Given the description of an element on the screen output the (x, y) to click on. 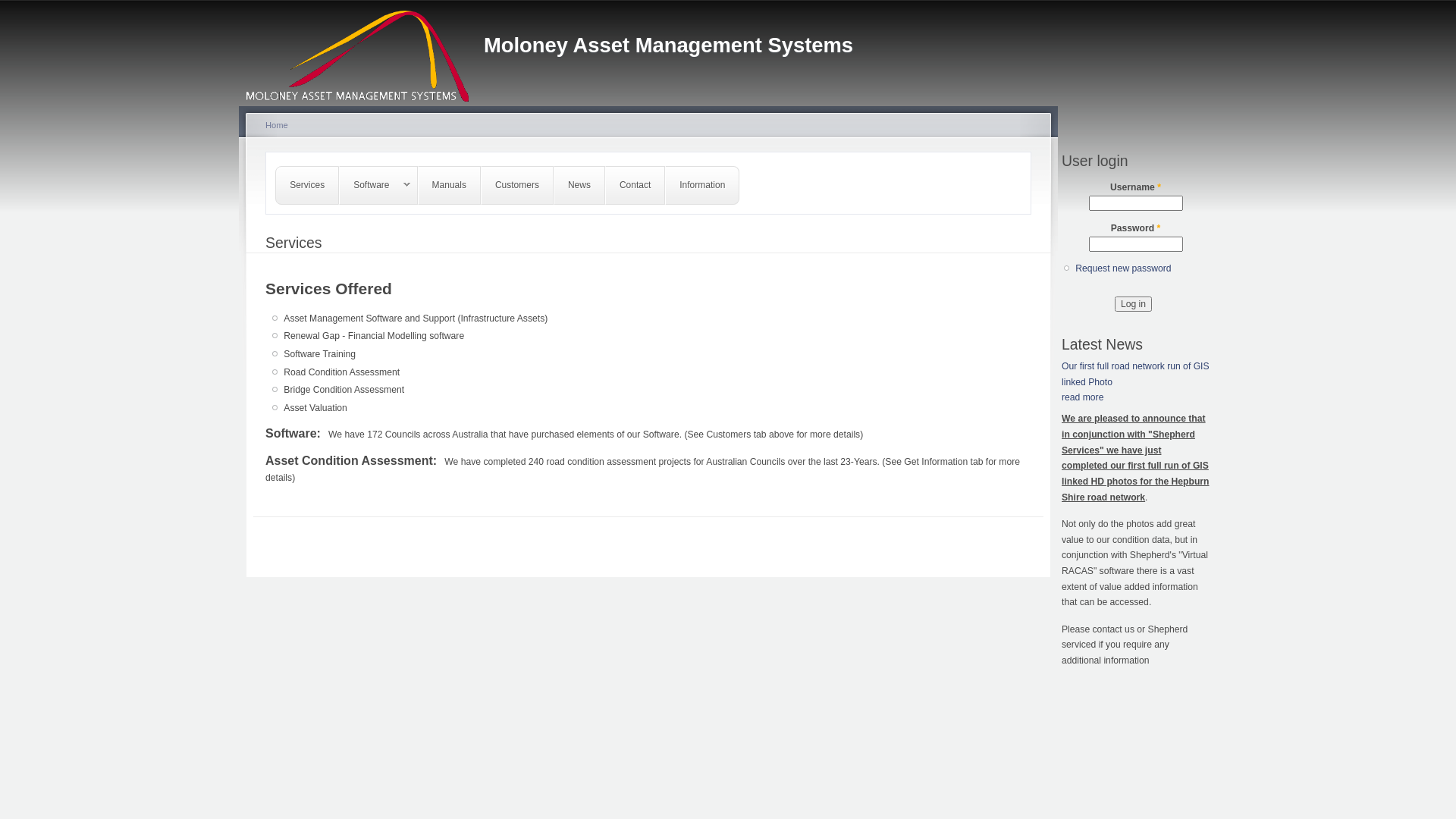
Customers Element type: text (516, 184)
Log in Element type: text (1132, 303)
read more Element type: text (1082, 397)
Services Element type: text (307, 184)
Moloney Asset Management Systems Element type: text (668, 44)
Information Element type: text (701, 184)
Request new password Element type: text (1122, 268)
Contact Element type: text (634, 184)
Moloney Asset Management Systems  Element type: hover (364, 50)
Manuals Element type: text (449, 184)
News Element type: text (579, 184)
Home Element type: text (276, 124)
Our first full road network run of GIS linked Photo Element type: text (1135, 373)
Skip to main content Element type: text (700, 2)
